Given the description of an element on the screen output the (x, y) to click on. 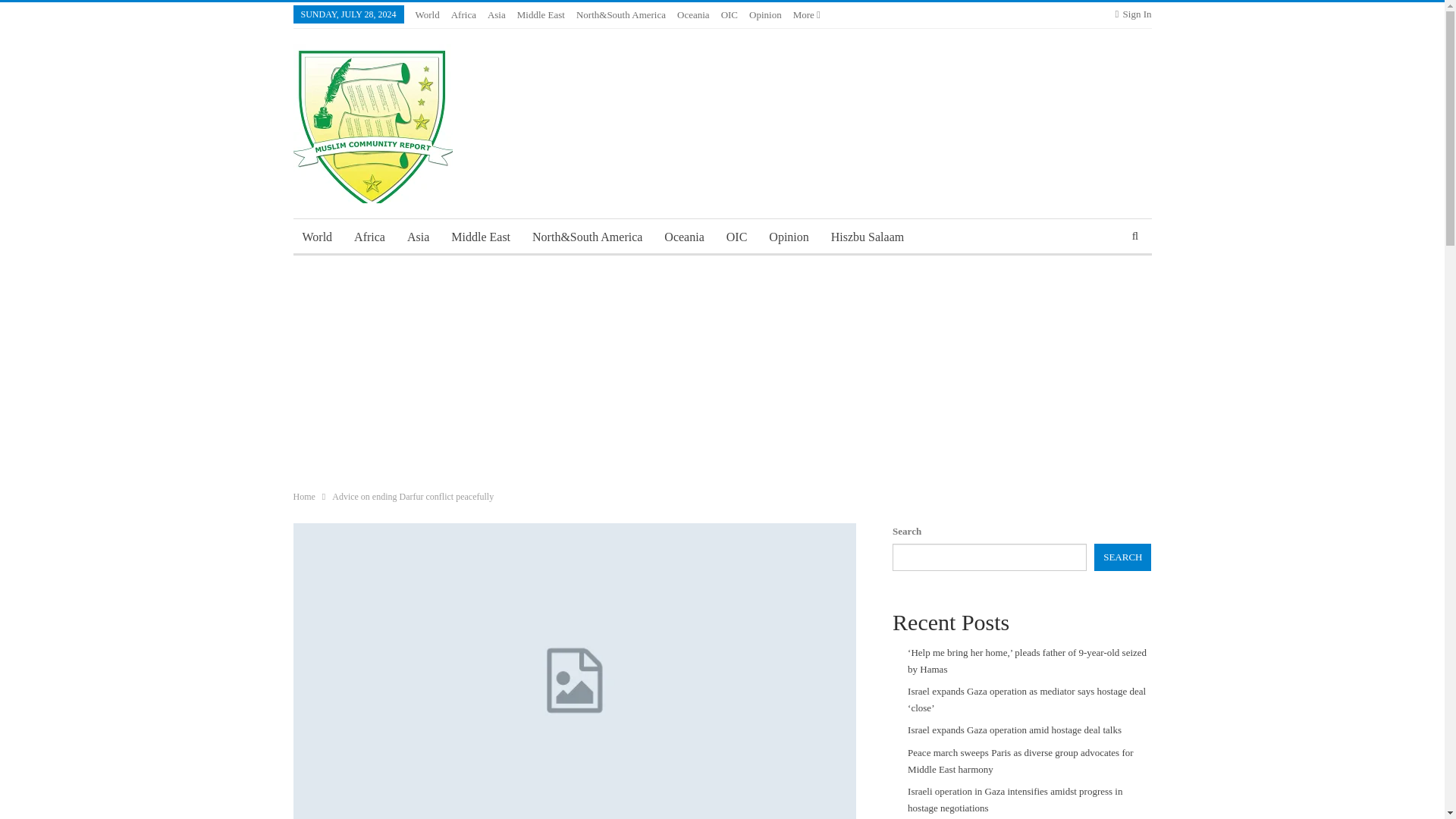
Sign In (1133, 13)
World (316, 237)
Asia (496, 14)
Hiszbu Salaam (867, 237)
OIC (729, 14)
Oceania (693, 14)
Opinion (765, 14)
More (807, 14)
Middle East (540, 14)
Middle East (480, 237)
Oceania (684, 237)
Africa (369, 237)
Opinion (788, 237)
Home (303, 496)
